Given the description of an element on the screen output the (x, y) to click on. 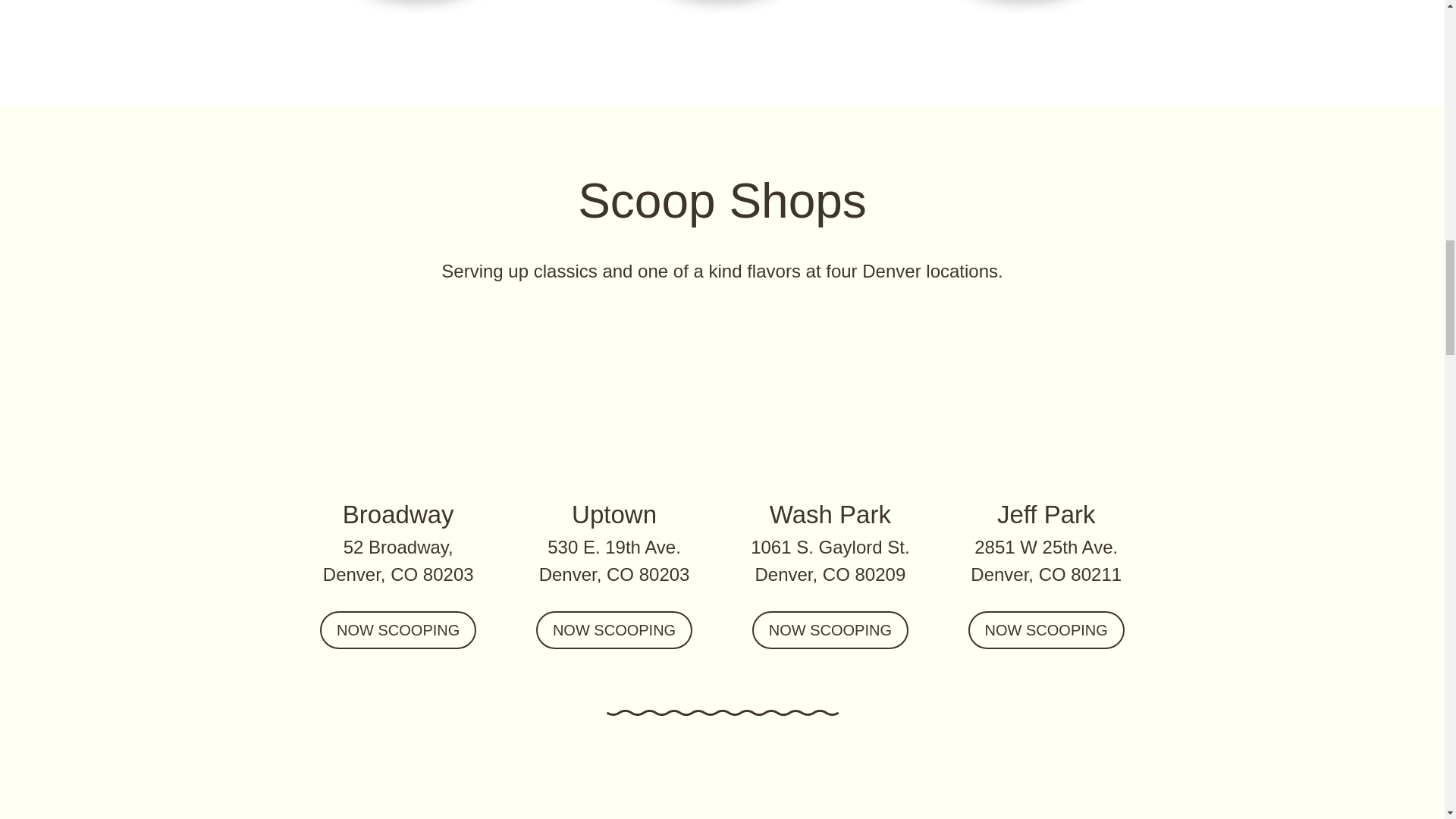
squiggle divider (721, 712)
Chocolate Fudge Brownie (721, 6)
Italian Lemon Sorbet (1025, 6)
Vegan Chocolate Ganache (419, 6)
